Given the description of an element on the screen output the (x, y) to click on. 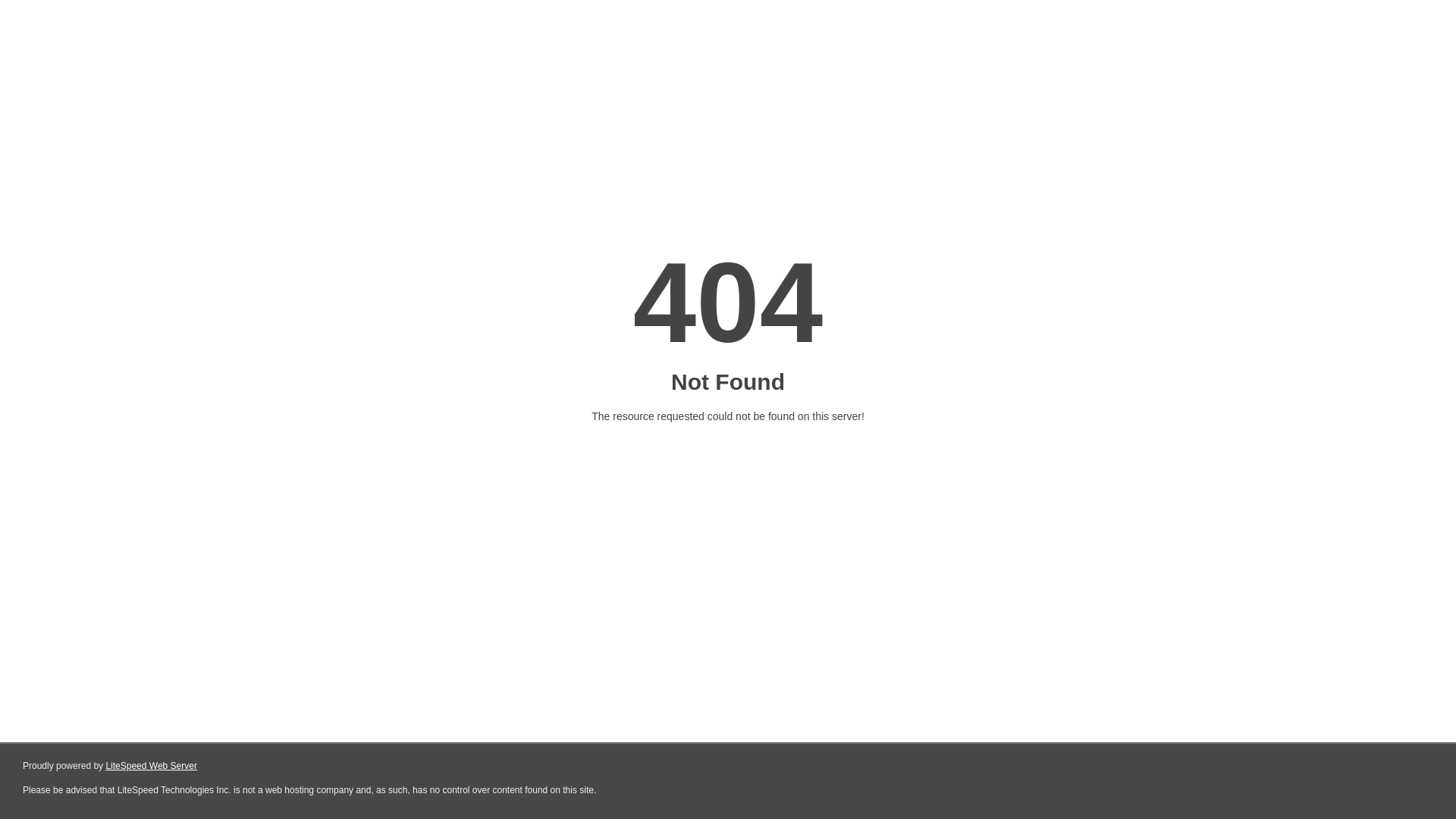
LiteSpeed Web Server Element type: text (151, 765)
